Given the description of an element on the screen output the (x, y) to click on. 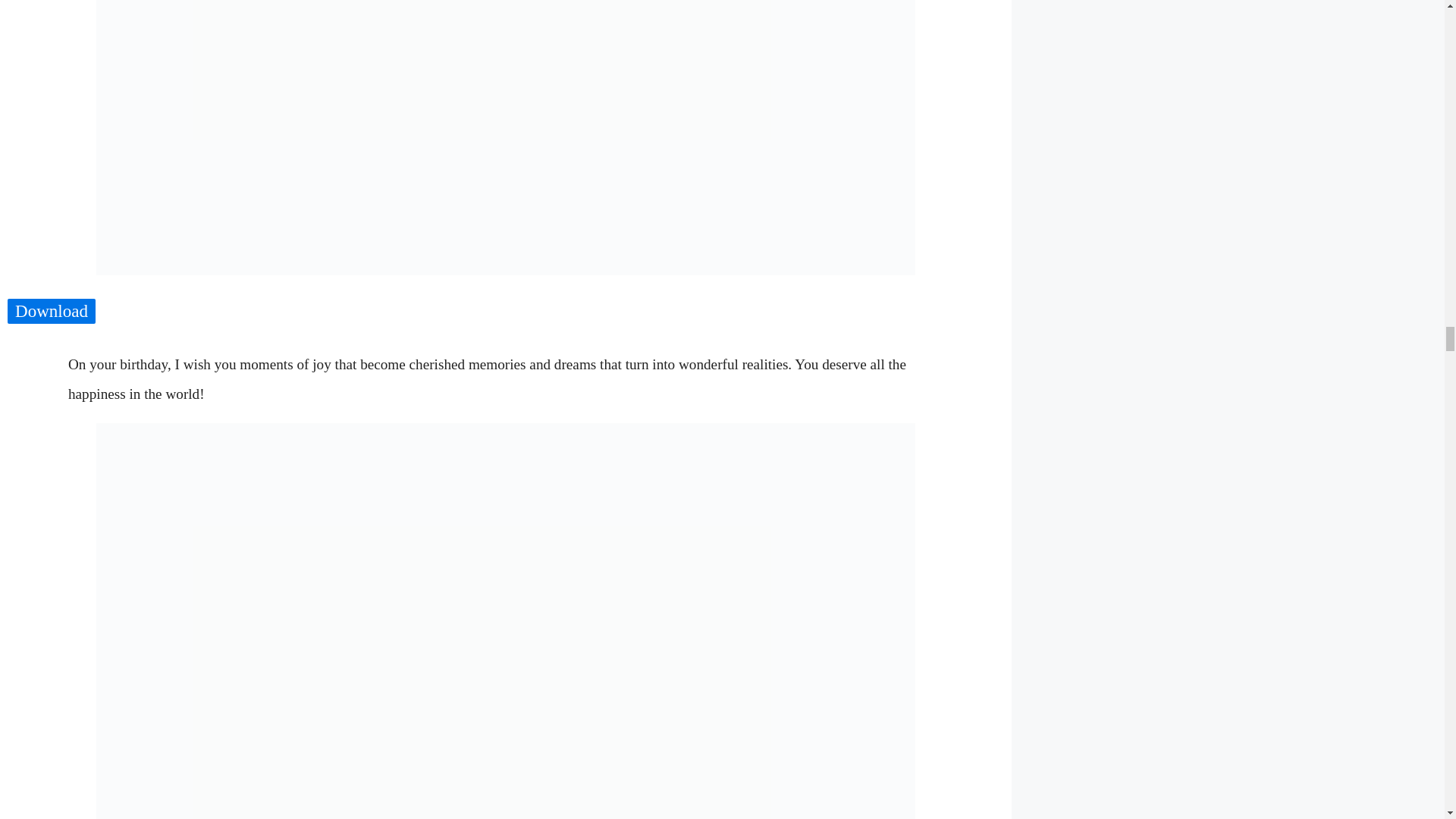
Download (51, 310)
Download (51, 311)
